Given the description of an element on the screen output the (x, y) to click on. 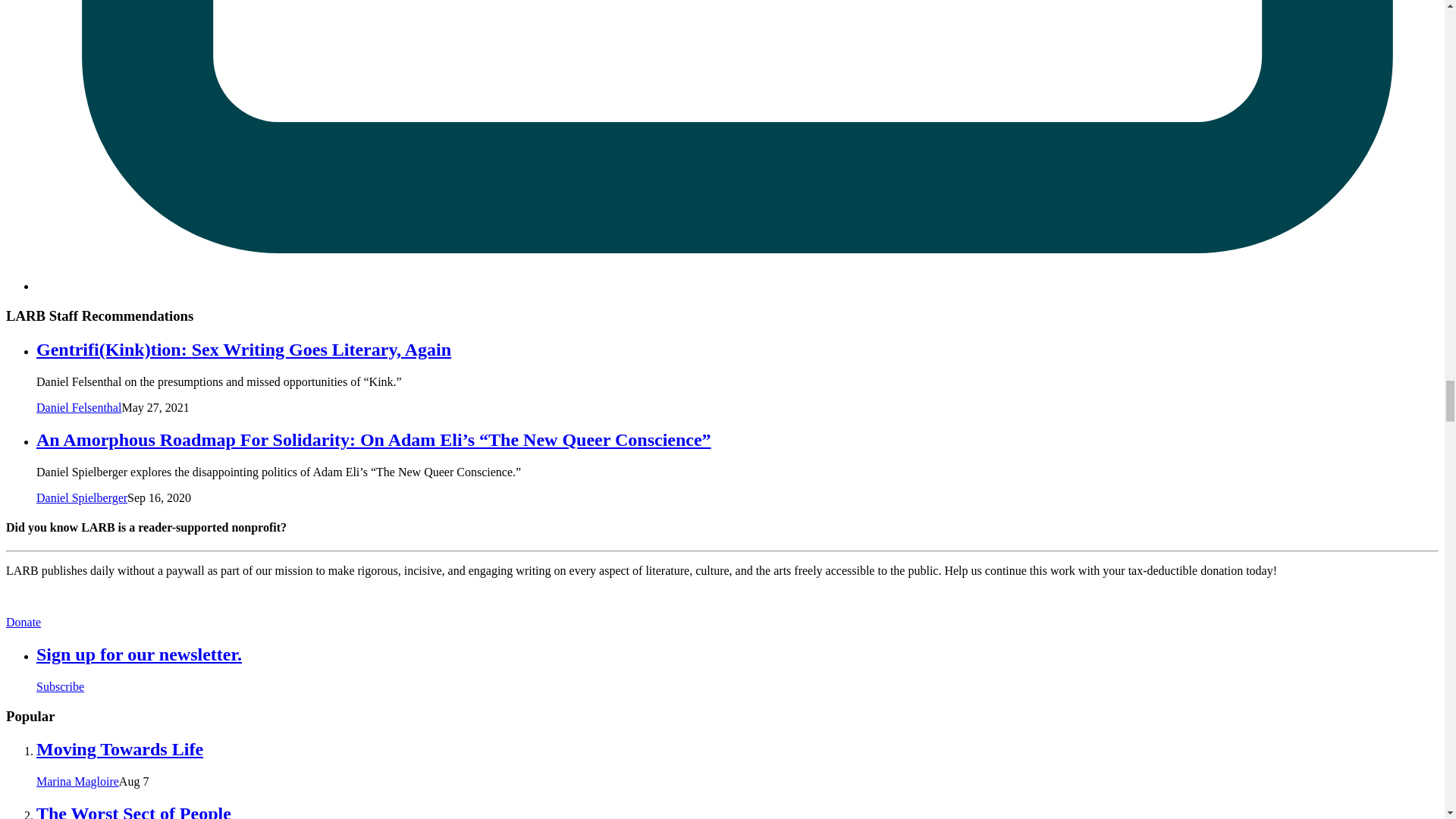
Daniel Felsenthal (78, 407)
Daniel Spielberger (82, 497)
Sign up for our newsletter. (138, 654)
